Given the description of an element on the screen output the (x, y) to click on. 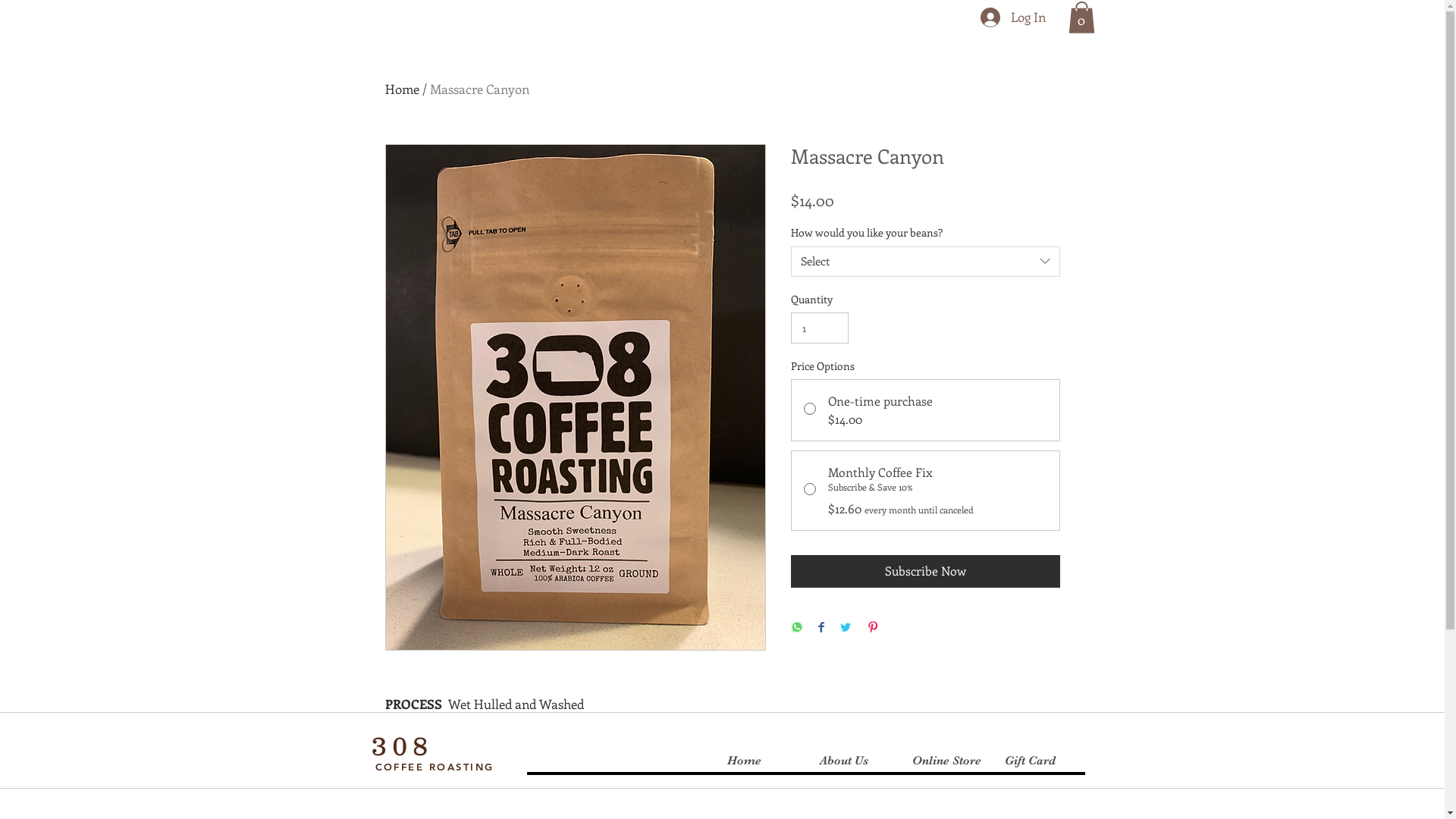
Gift Card Element type: text (1037, 760)
Home Element type: text (402, 88)
About Us Element type: text (852, 760)
Online Store Element type: text (945, 760)
COFFEE ROASTING Element type: text (433, 766)
0 Element type: text (1080, 17)
Home Element type: text (760, 760)
Subscribe Now Element type: text (924, 570)
Log In Element type: text (1012, 17)
Select Element type: text (924, 261)
308 Element type: text (402, 745)
Massacre Canyon Element type: text (478, 88)
